Given the description of an element on the screen output the (x, y) to click on. 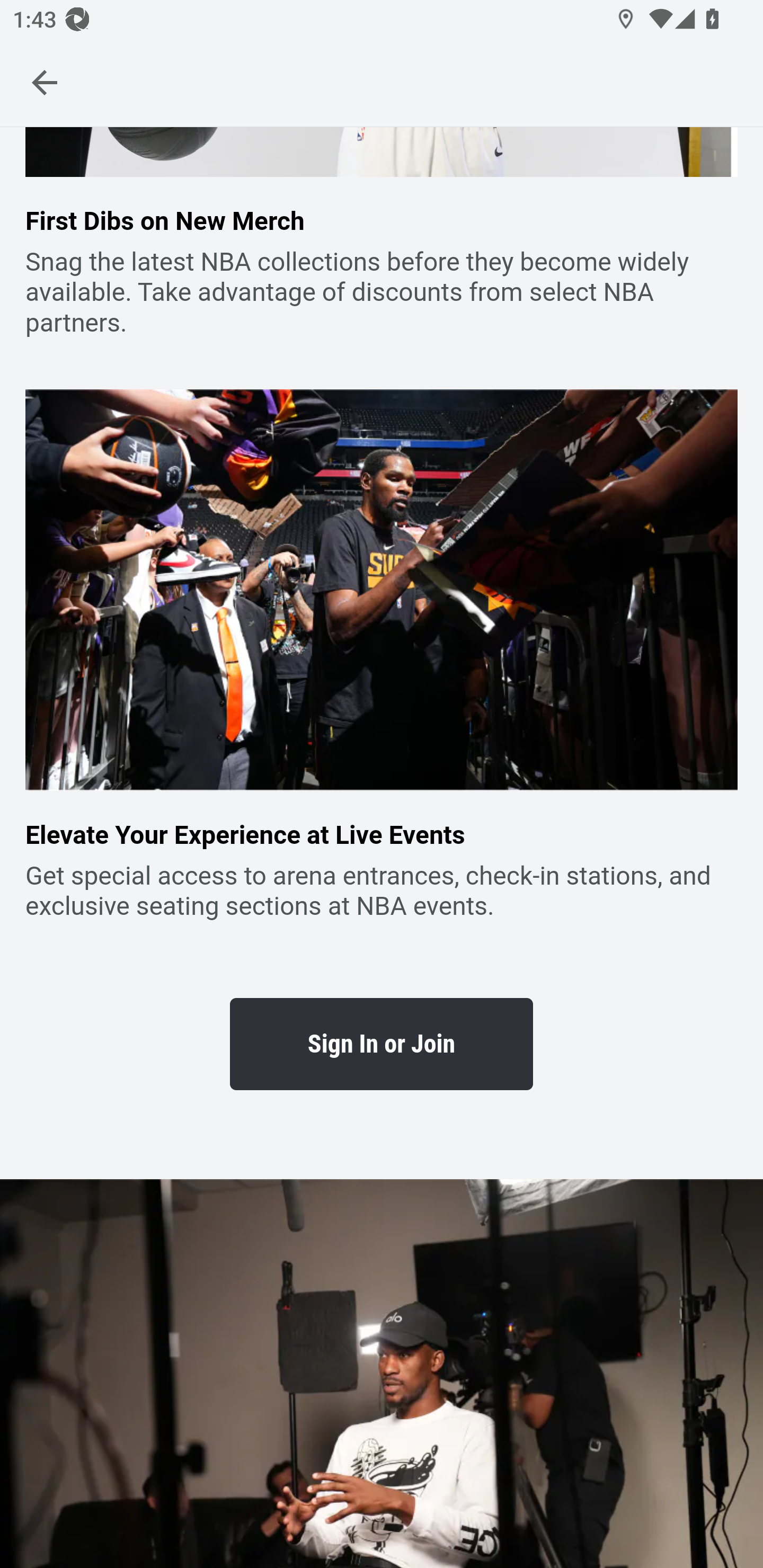
Navigate up (44, 82)
Sign In or Join (381, 1044)
